Given the description of an element on the screen output the (x, y) to click on. 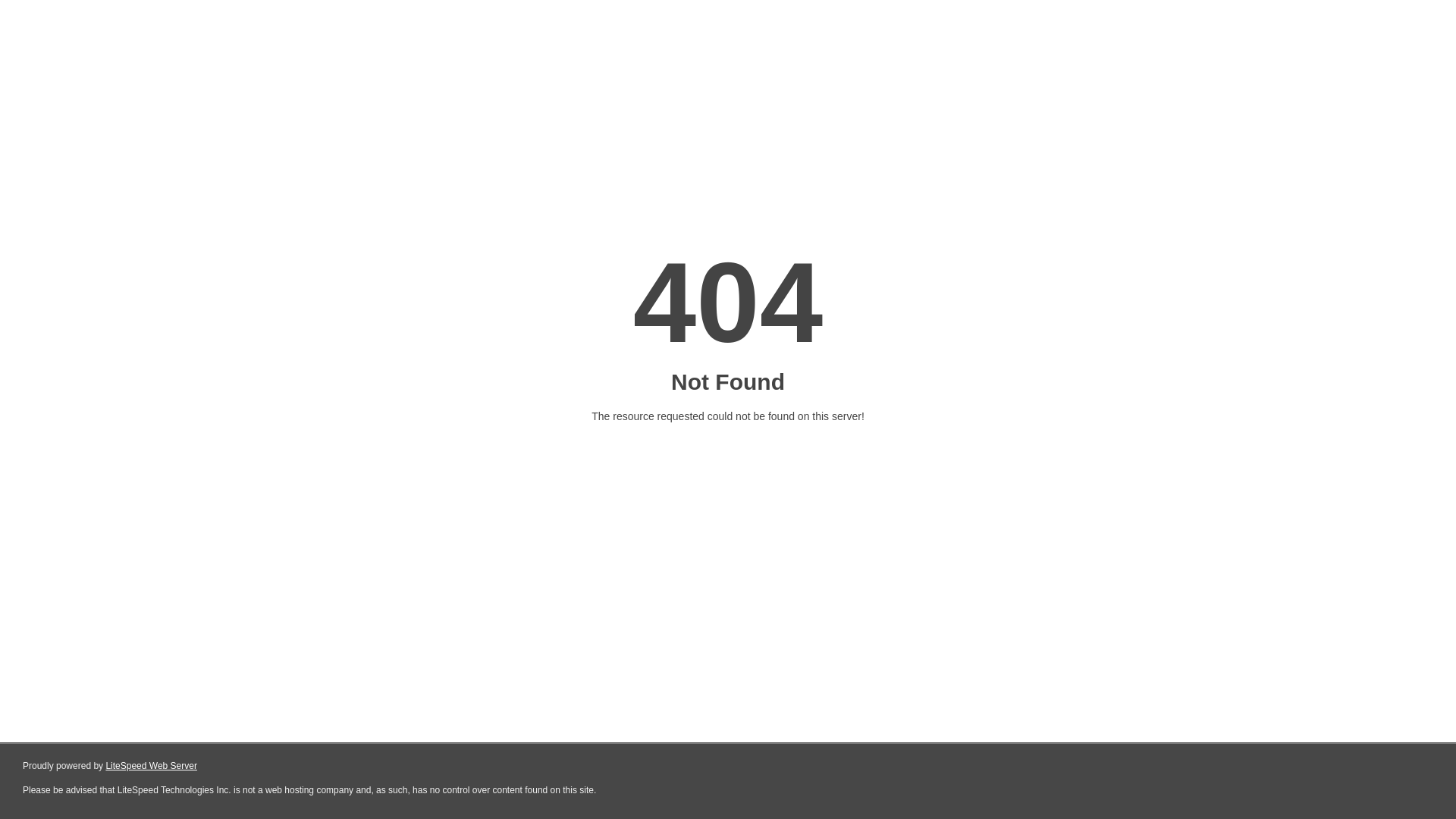
LiteSpeed Web Server Element type: text (151, 765)
